Given the description of an element on the screen output the (x, y) to click on. 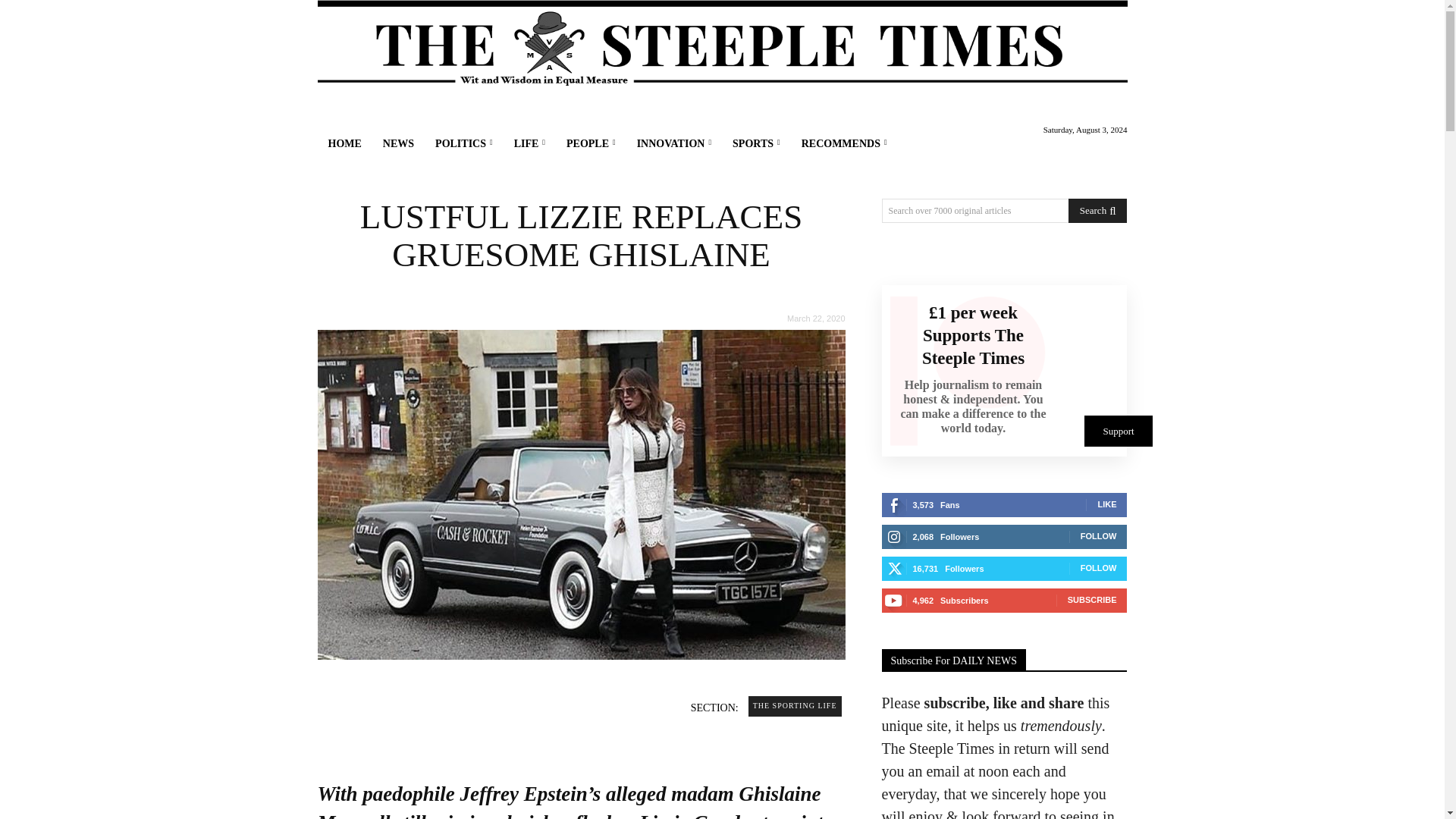
The Latest News, Wit and Review (721, 44)
NEWS (398, 144)
INNOVATION (674, 144)
HOME (344, 144)
PEOPLE (591, 144)
POLITICS (464, 144)
LIFE (529, 144)
